Given the description of an element on the screen output the (x, y) to click on. 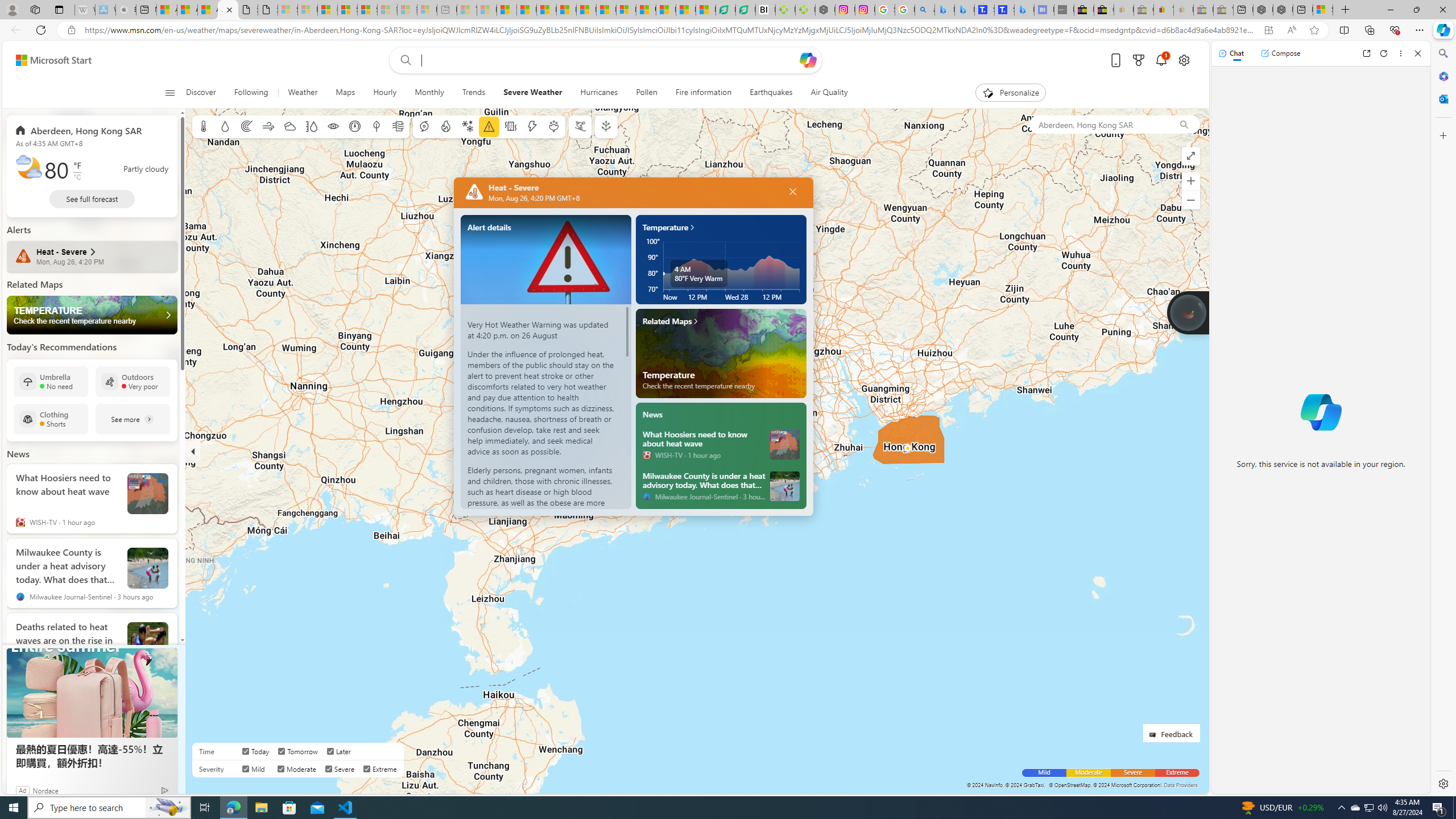
Radar (246, 126)
Pollen (646, 92)
Severe Weather (532, 92)
Chat (1231, 52)
Fire information (703, 92)
Trends (473, 92)
Trends (473, 92)
